Given the description of an element on the screen output the (x, y) to click on. 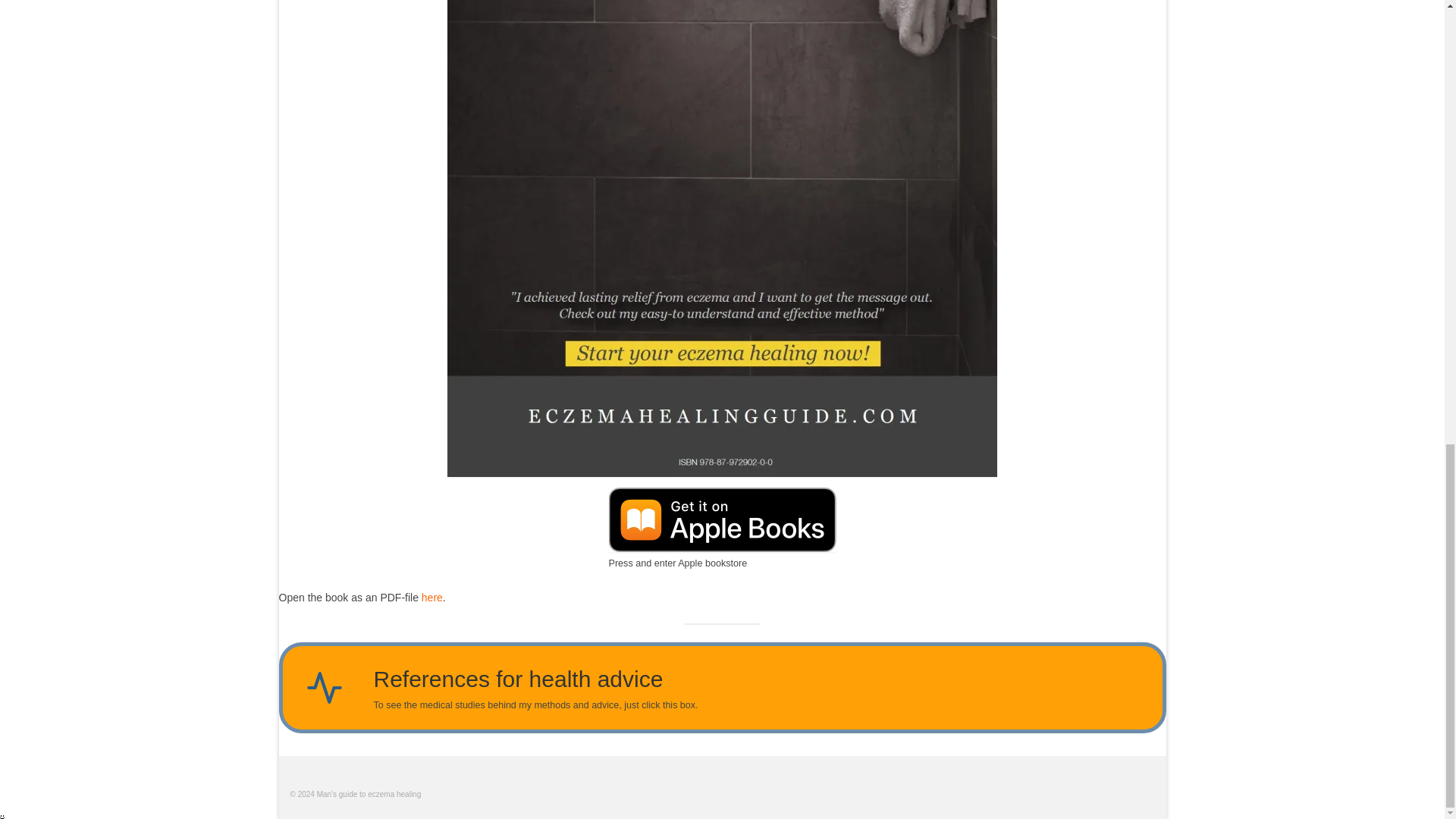
here (432, 597)
